Given the description of an element on the screen output the (x, y) to click on. 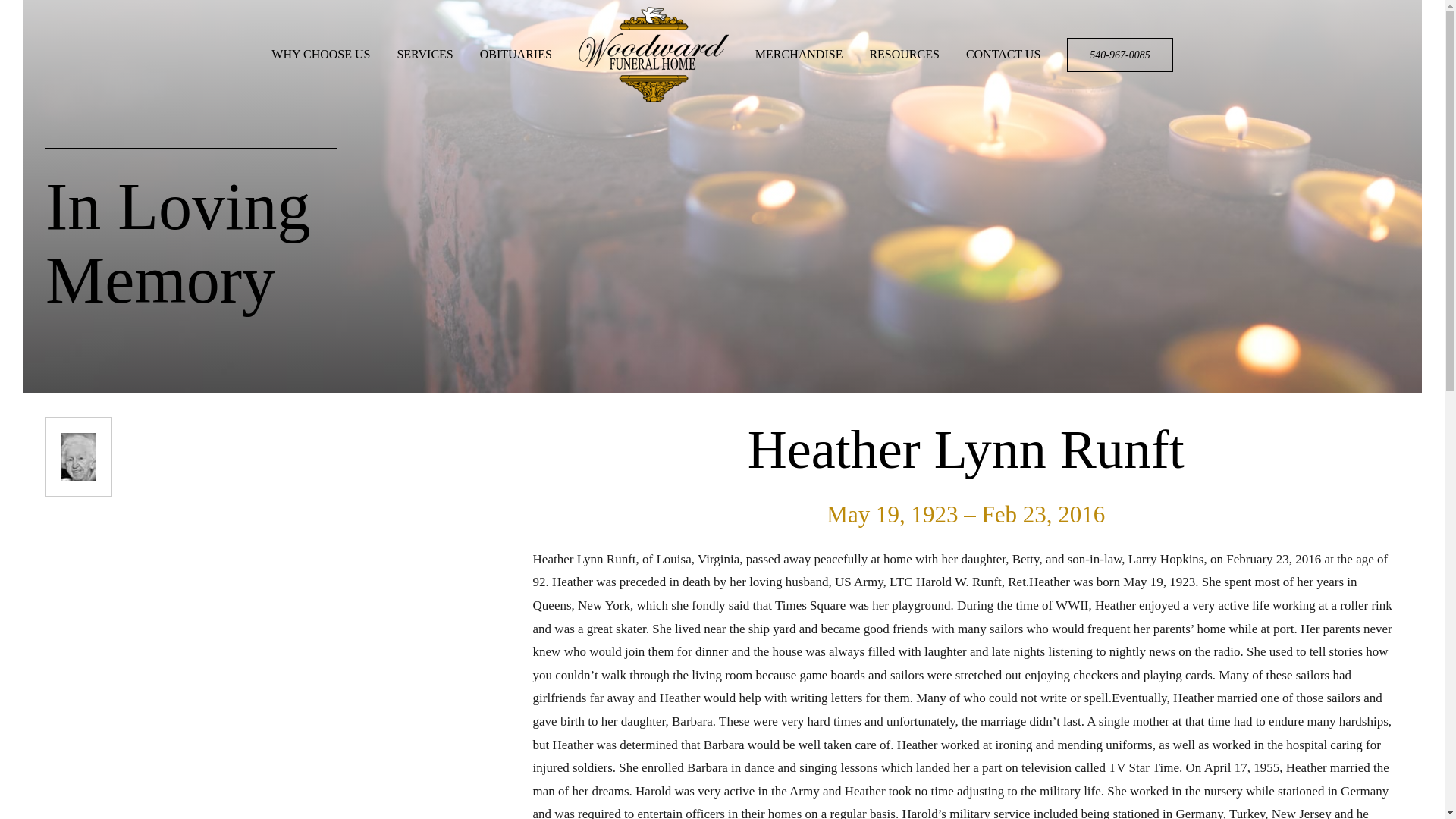
540-967-0085 (1119, 53)
WHY CHOOSE US (319, 53)
